Given the description of an element on the screen output the (x, y) to click on. 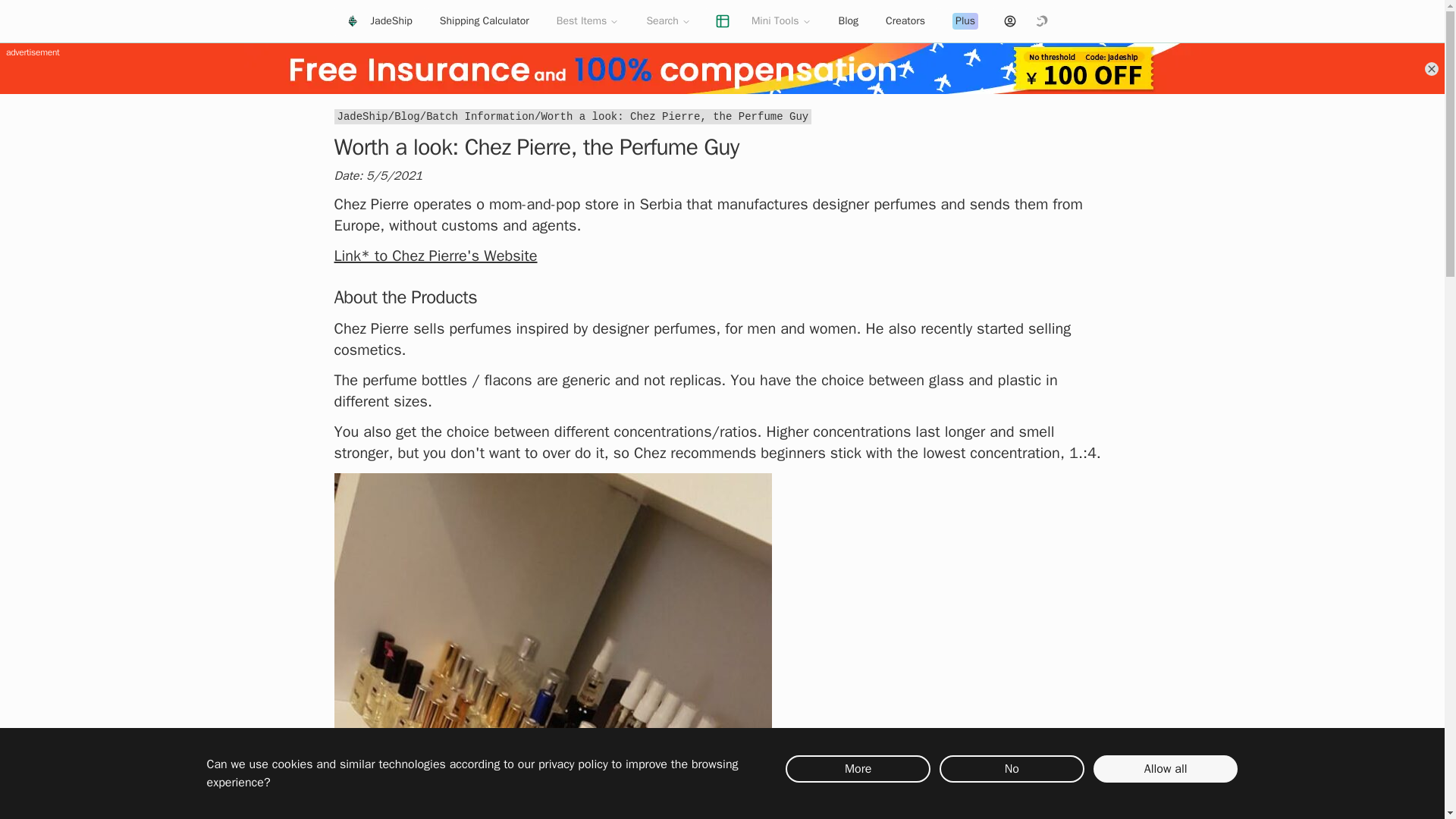
spreadsheets (722, 20)
JadeShip (361, 116)
Blog (848, 20)
Mini Tools (781, 20)
Creators (905, 20)
account (1009, 20)
Plus (965, 20)
Shipping Calculator (484, 20)
JadeShip (378, 20)
Batch Information (480, 116)
Blog (407, 116)
Search (668, 20)
Best Items (587, 20)
